Given the description of an element on the screen output the (x, y) to click on. 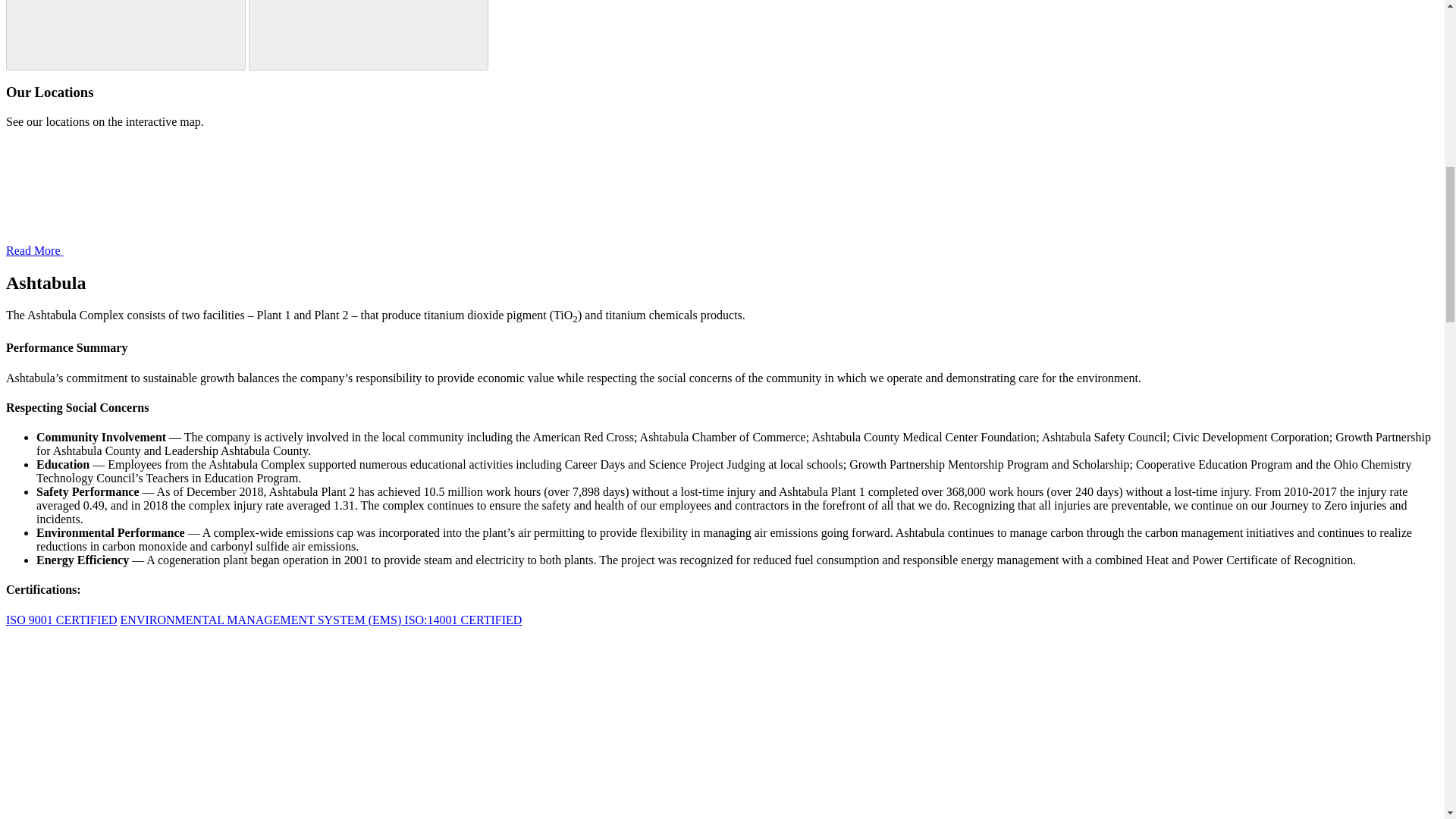
ISO 9001 CERTIFIED (61, 619)
Read More (148, 250)
ISO 9001 CERTIFIED (61, 619)
